Given the description of an element on the screen output the (x, y) to click on. 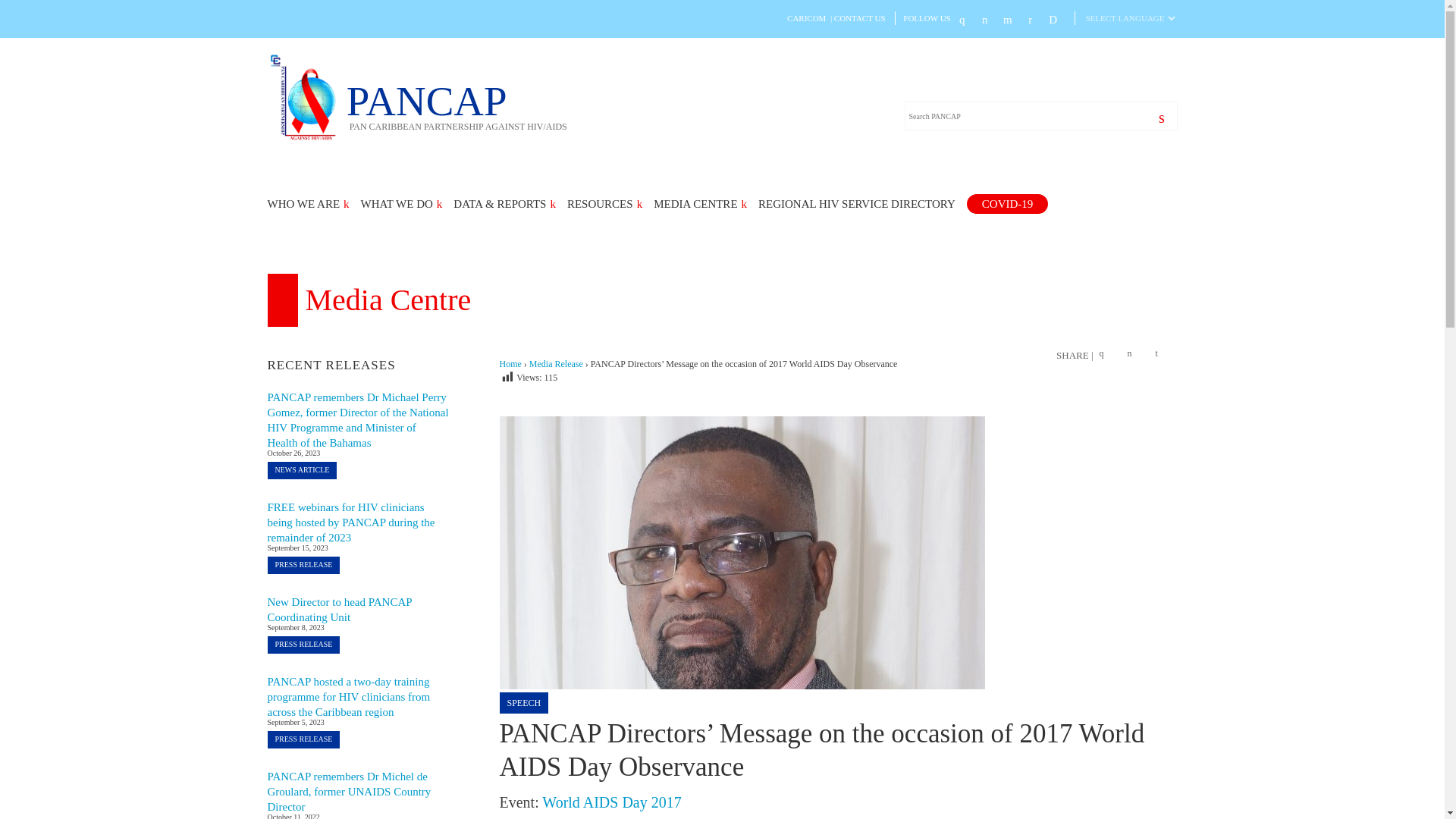
PANCAP (306, 138)
Click to share on Twitter (1132, 354)
Click to email this to a friend (1161, 354)
CONTACT US (859, 17)
CARICOM (806, 17)
Click to share on Facebook (1105, 354)
